Given the description of an element on the screen output the (x, y) to click on. 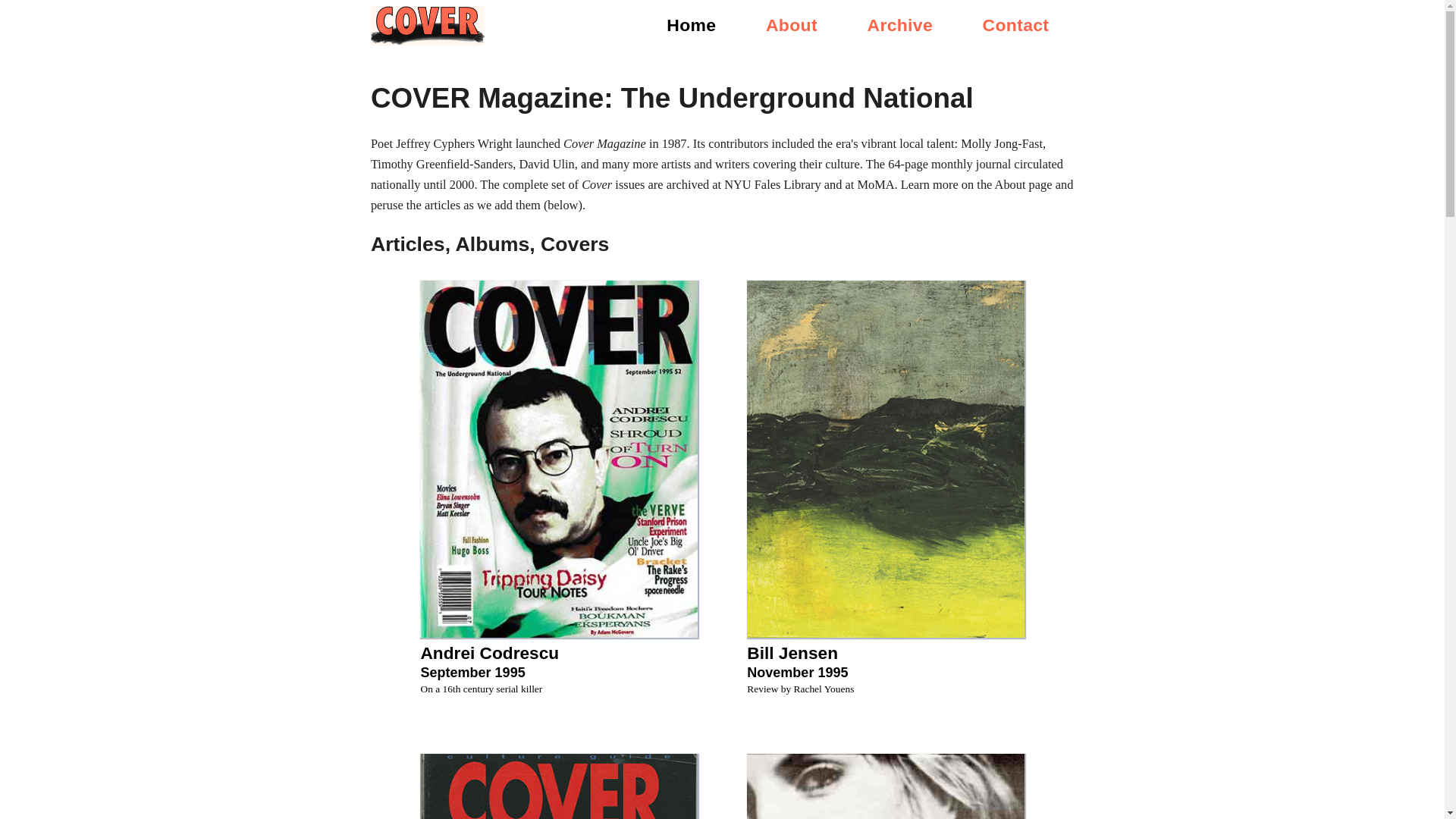
Home (691, 25)
Archive (884, 660)
Contact (899, 25)
About (1015, 25)
